Given the description of an element on the screen output the (x, y) to click on. 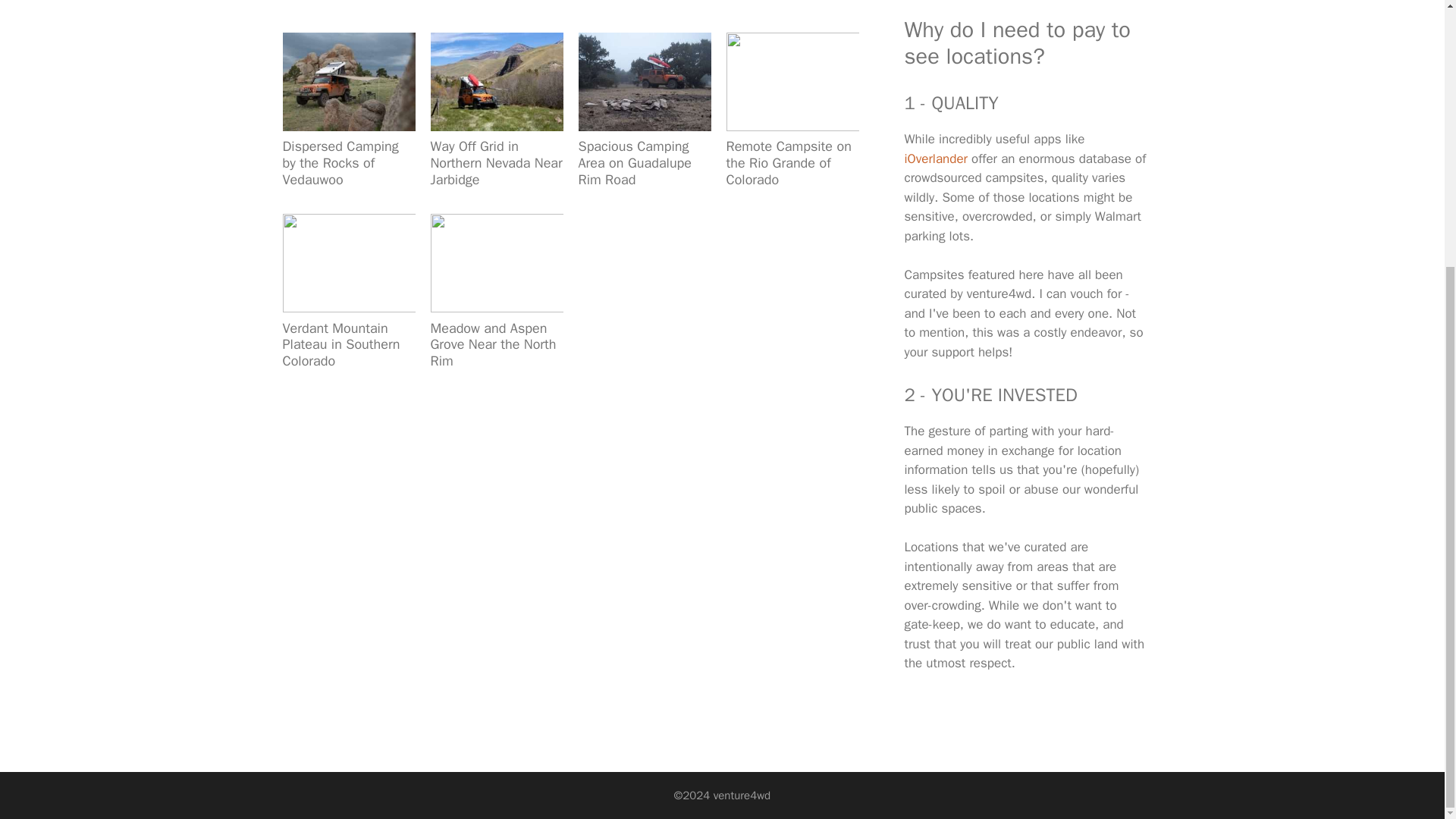
iOverlander (936, 158)
Verdant Mountain Plateau in Southern Colorado (340, 344)
Remote Campsite on the Rio Grande of Colorado (788, 162)
Meadow and Aspen Grove Near the North Rim (493, 344)
Dispersed Camping by the Rocks of Vedauwoo (339, 162)
Way Off Grid in Northern Nevada Near Jarbidge (496, 162)
Spacious Camping Area on Guadalupe Rim Road (634, 162)
